Given the description of an element on the screen output the (x, y) to click on. 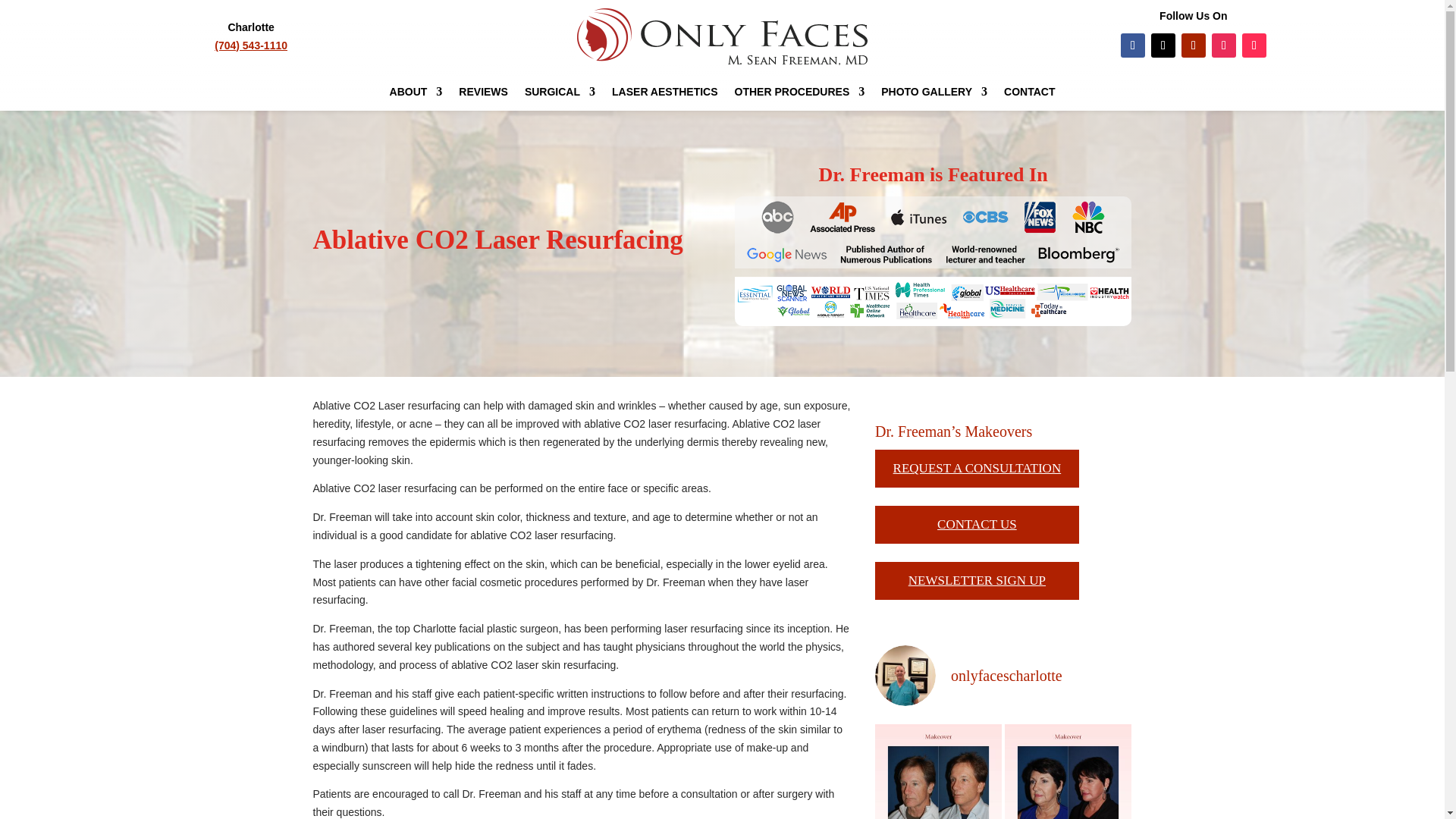
PHOTO GALLERY (933, 94)
REVIEWS (483, 94)
Follow on X (1162, 45)
SURGICAL (559, 94)
LASER AESTHETICS (664, 94)
logo (721, 36)
Follow on Facebook (1132, 45)
Follow on TikTok (1253, 45)
ABOUT (416, 94)
Follow on Youtube (1192, 45)
Homepage-banner - onlyface (933, 260)
Follow on Instagram (1223, 45)
OTHER PROCEDURES (799, 94)
